Given the description of an element on the screen output the (x, y) to click on. 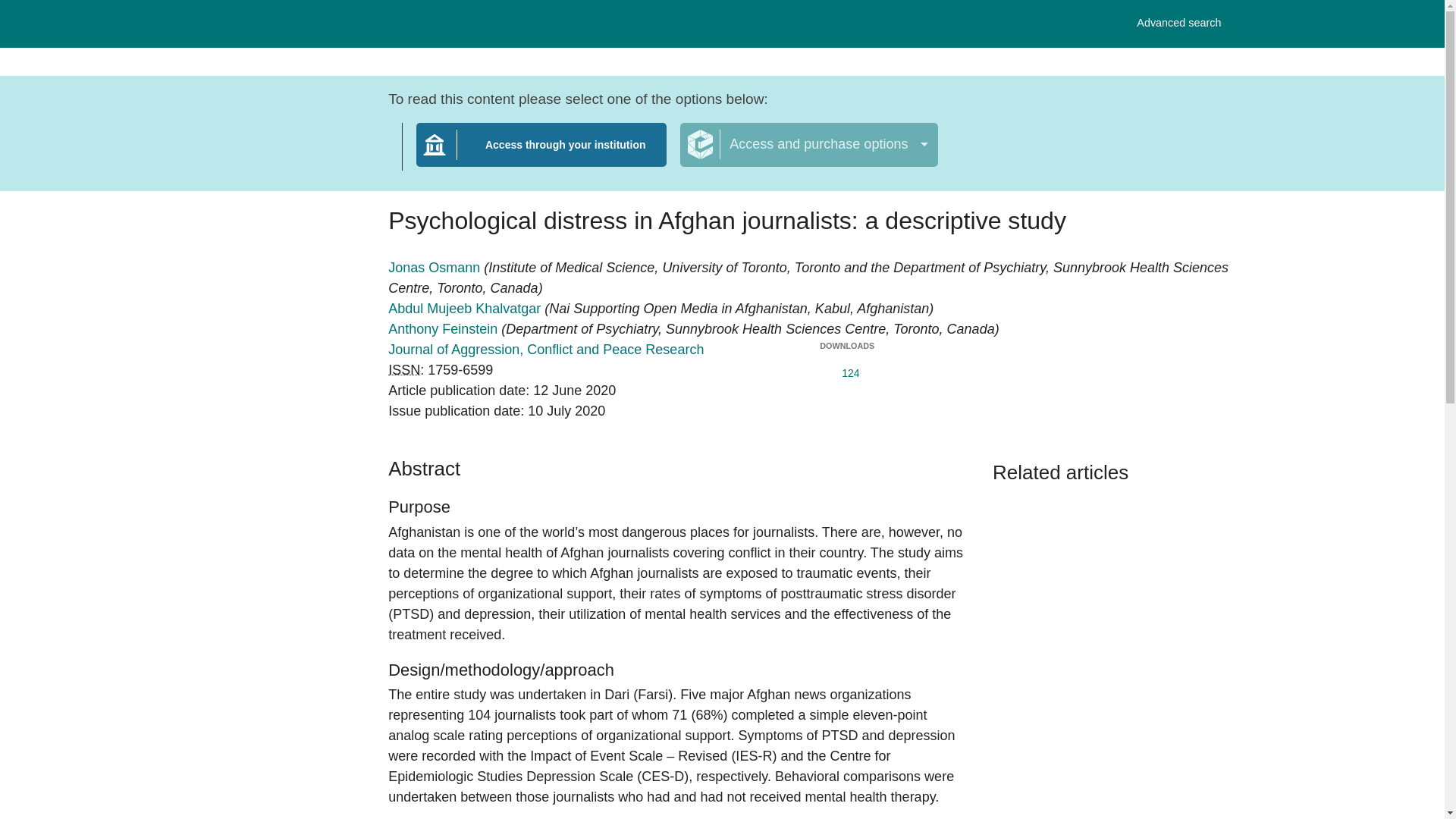
Abdul Mujeeb Khalvatgar (466, 308)
Jonas Osmann (435, 267)
Access and purchase options (808, 144)
Anthony Feinstein (444, 328)
International Standard Serial Number. (404, 369)
This item has been downloaded 124 times since 2020. (846, 369)
Journal of Aggression, Conflict and Peace Research (1178, 23)
Access through your institution (545, 349)
